Given the description of an element on the screen output the (x, y) to click on. 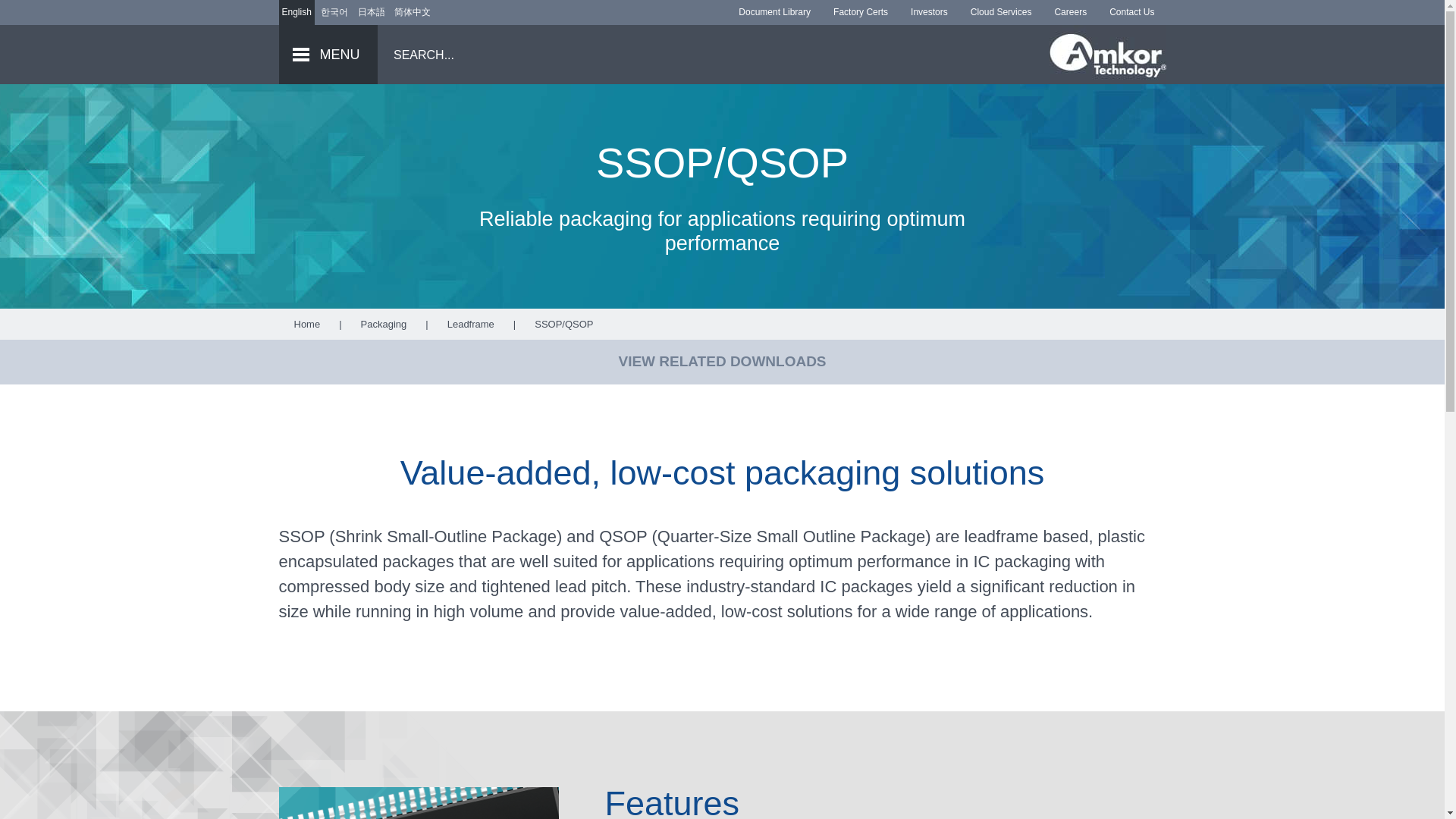
Home (307, 324)
Korean (333, 12)
English (296, 12)
Document Library (774, 12)
Cloud Services (1001, 12)
Factory Certs (860, 12)
Japanese (371, 12)
English (296, 12)
Investors (929, 12)
Careers (1069, 12)
